Given the description of an element on the screen output the (x, y) to click on. 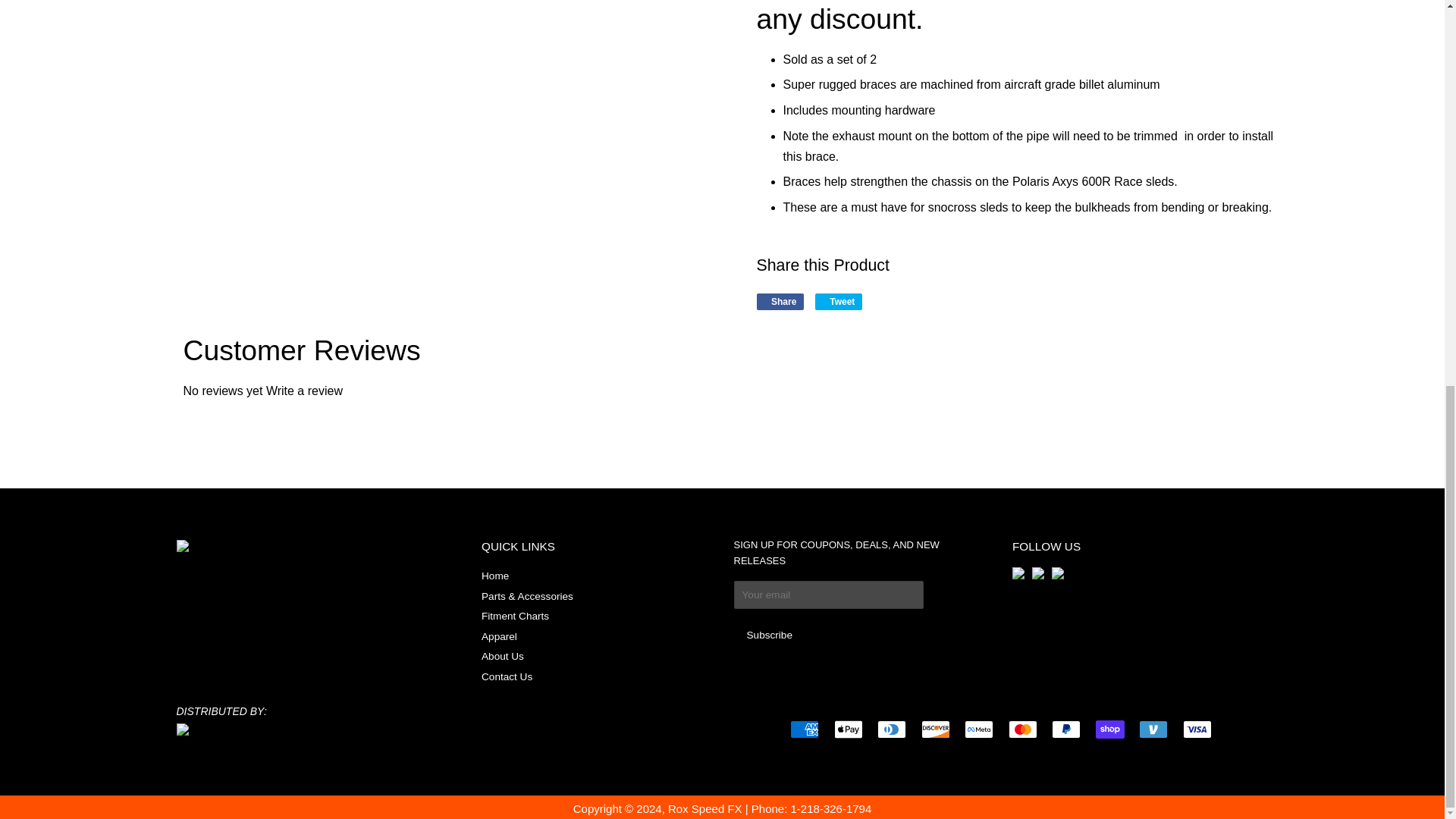
Diners Club (891, 729)
Apple Pay (848, 729)
Shop Pay (1110, 729)
Subscribe (769, 635)
Rox Speed FX on YouTube (1057, 575)
Rox Speed FX on Facebook (1018, 575)
Share on Facebook (781, 301)
Mastercard (1022, 729)
Visa (1196, 729)
Venmo (1152, 729)
